Given the description of an element on the screen output the (x, y) to click on. 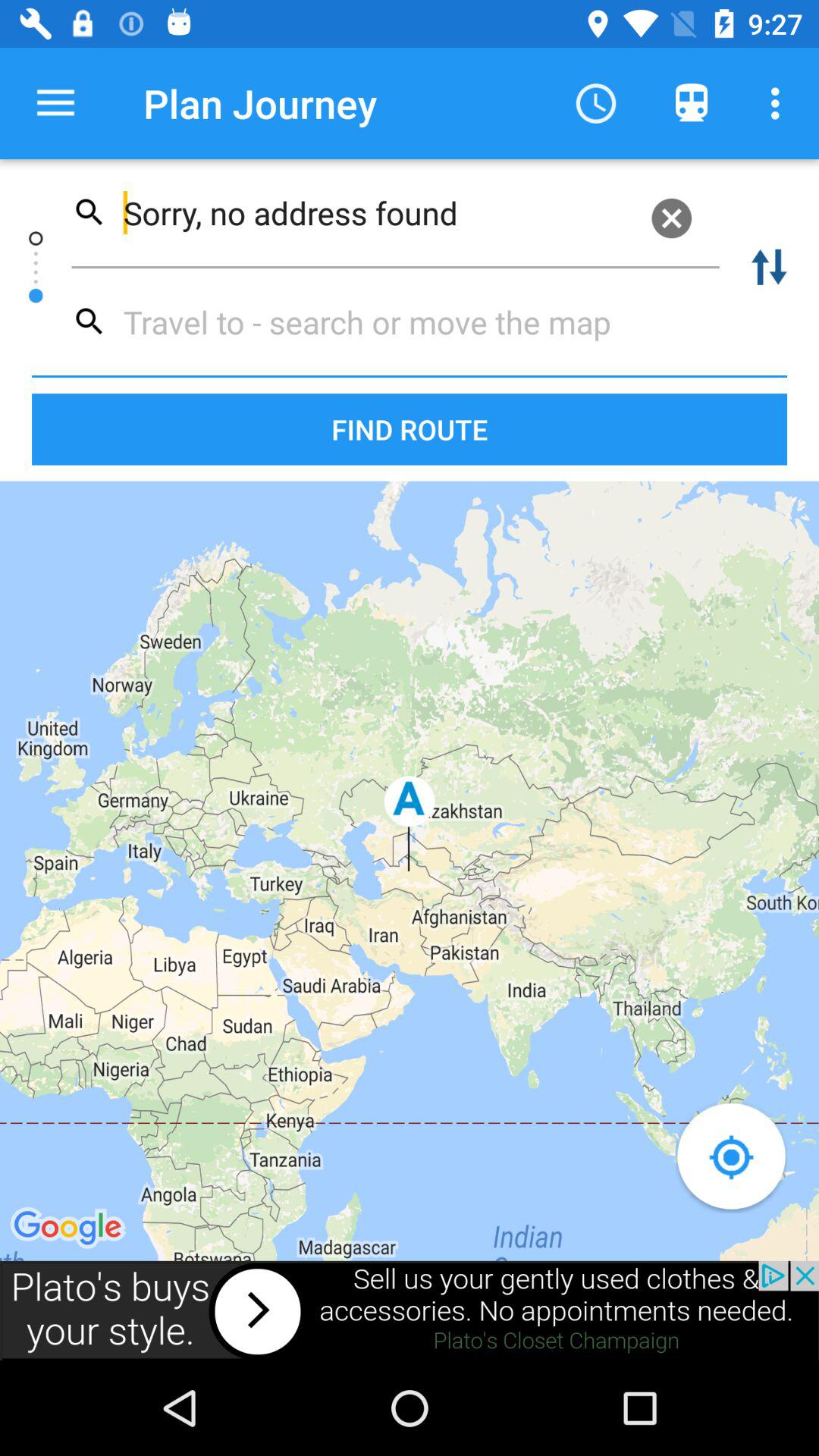
travel search (388, 321)
